Given the description of an element on the screen output the (x, y) to click on. 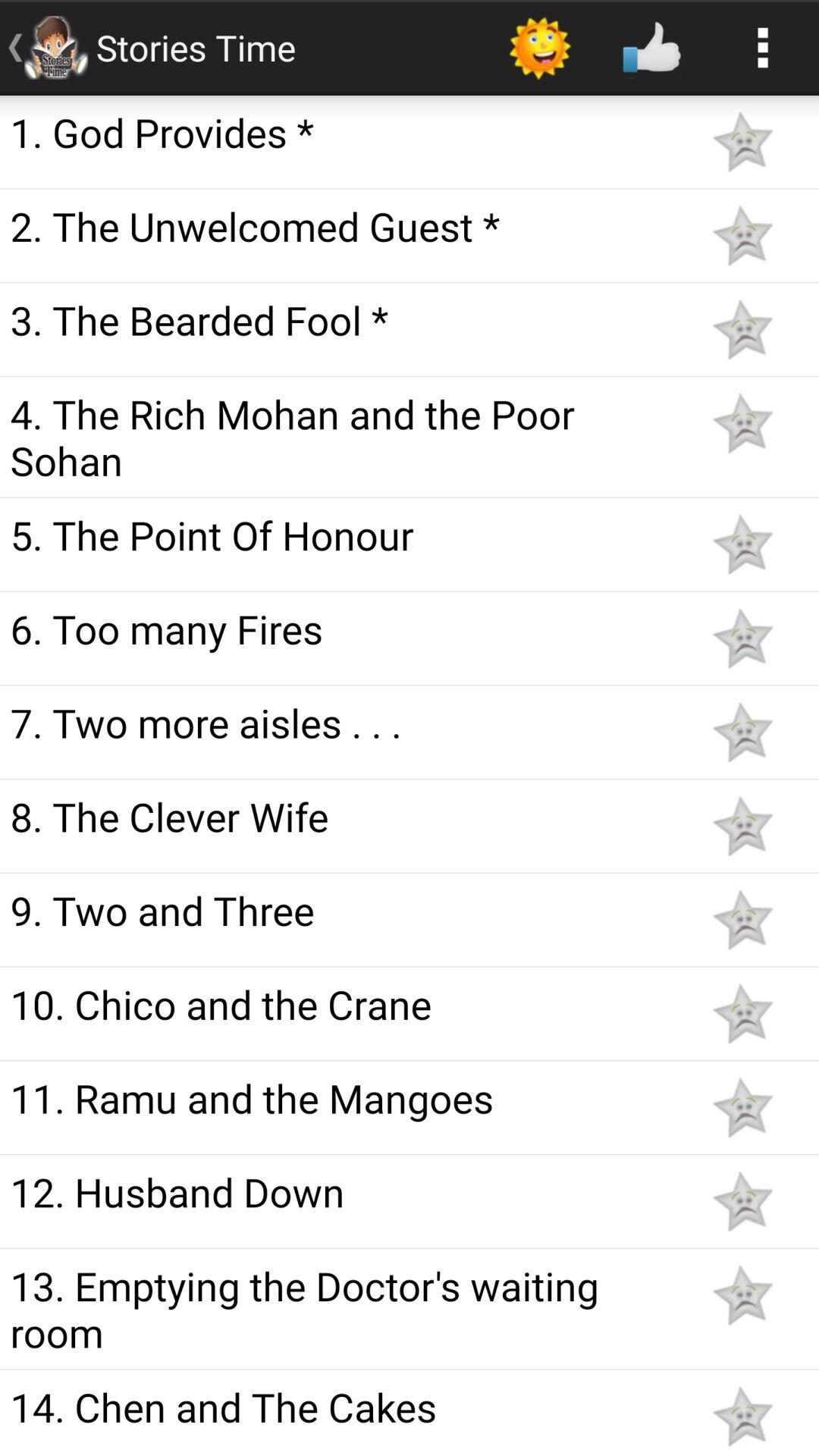
mark item sad (742, 1416)
